Given the description of an element on the screen output the (x, y) to click on. 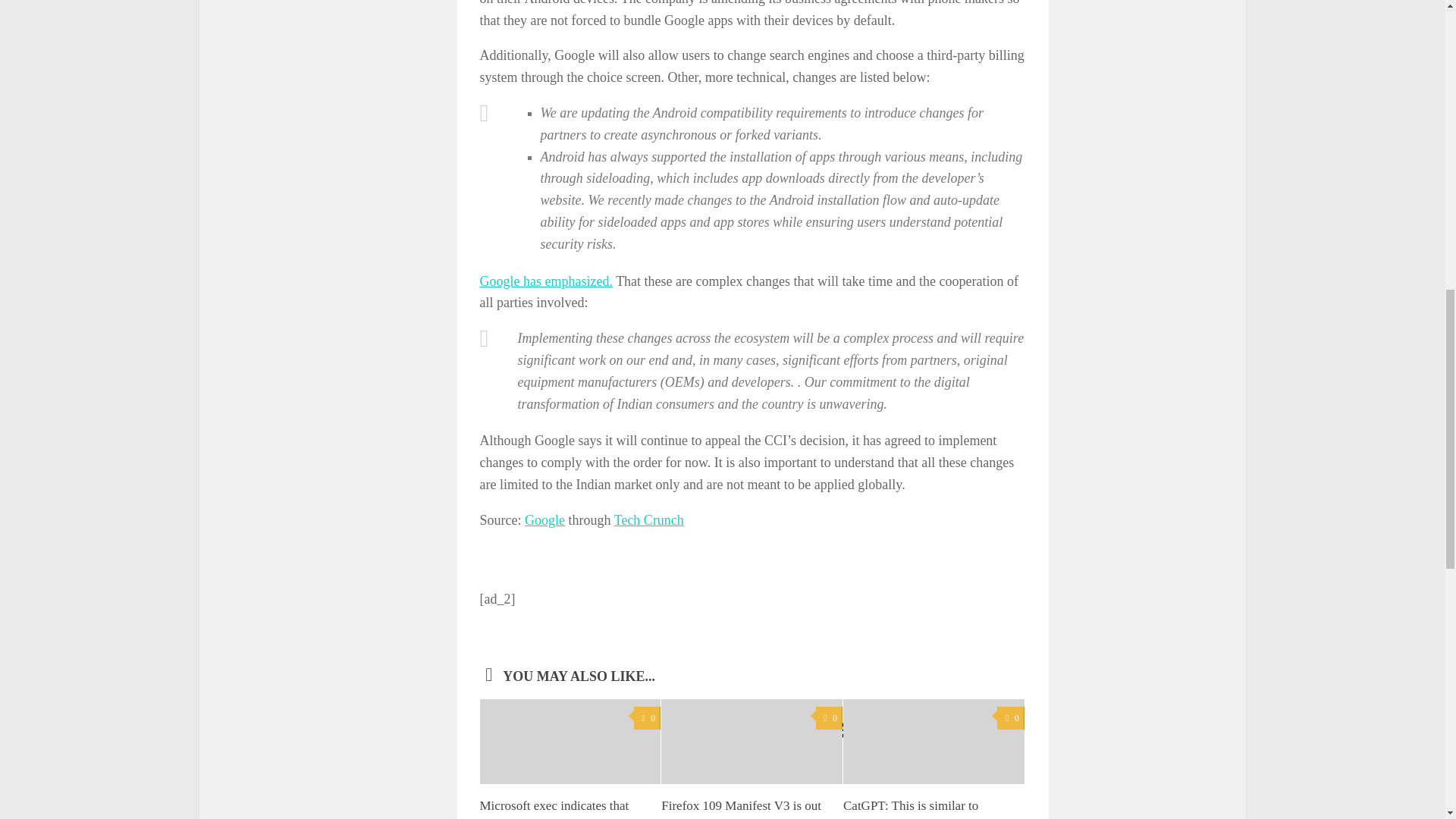
0 (647, 718)
0 (829, 718)
Tech Crunch (649, 519)
Google has emphasized. (545, 281)
CatGPT: This is similar to ChatGPT but not nearly as useful. (911, 808)
Google (544, 519)
0 (1010, 718)
